Given the description of an element on the screen output the (x, y) to click on. 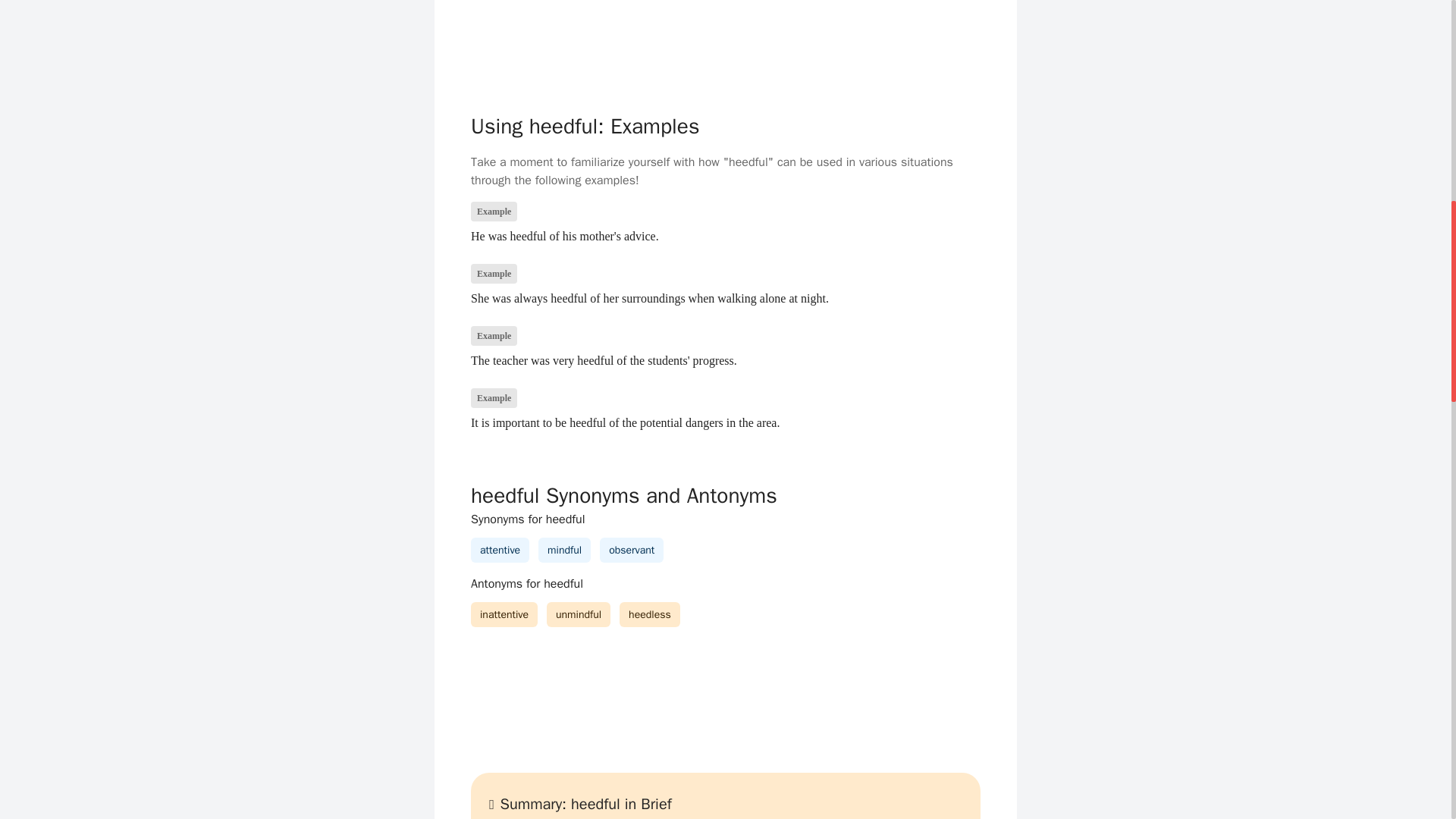
attentive (499, 549)
mindful (563, 549)
heedless (649, 614)
Advertisement (725, 37)
observant (630, 549)
inattentive (504, 614)
unmindful (578, 614)
